Given the description of an element on the screen output the (x, y) to click on. 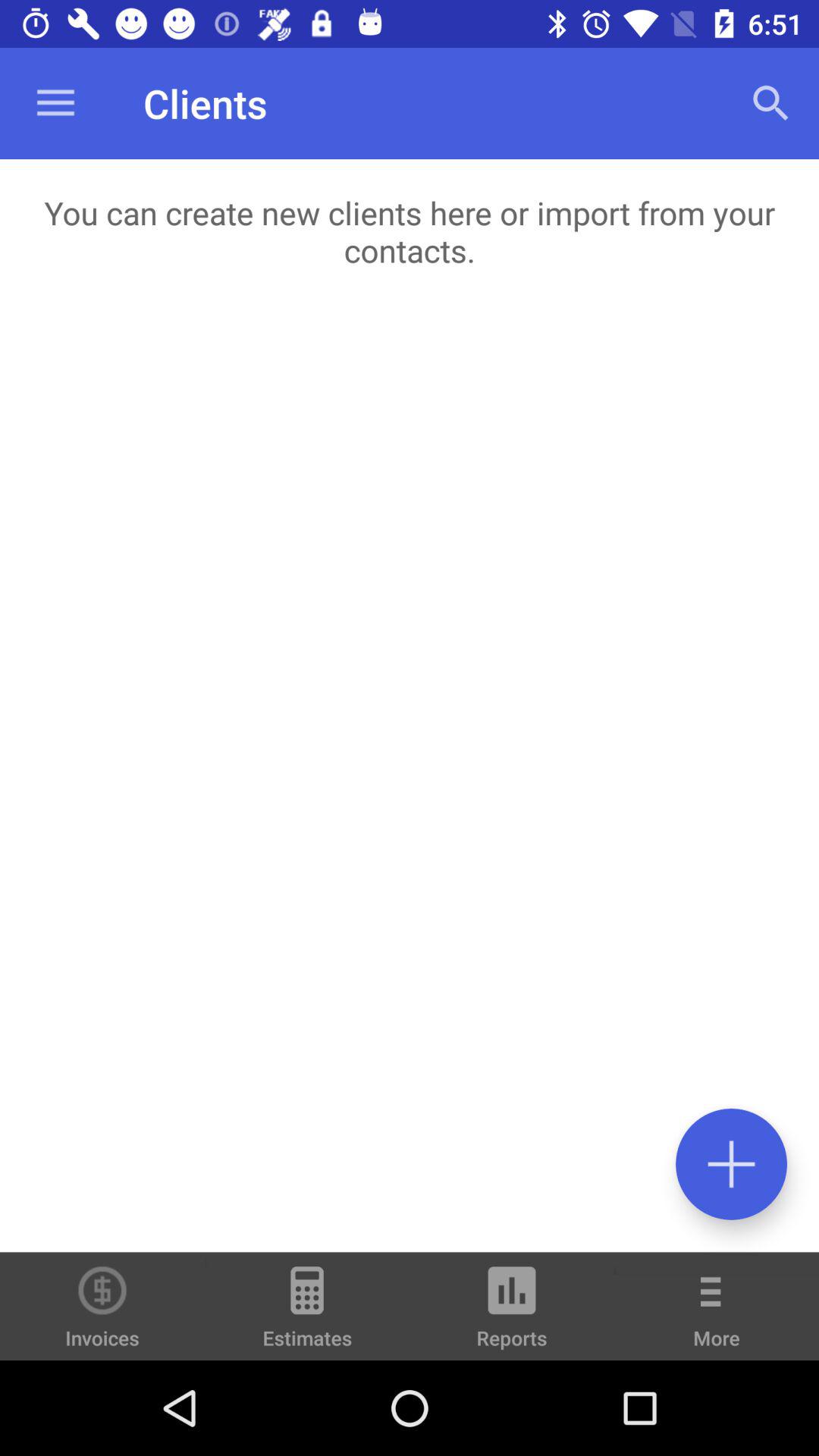
swipe until the invoices icon (102, 1306)
